Given the description of an element on the screen output the (x, y) to click on. 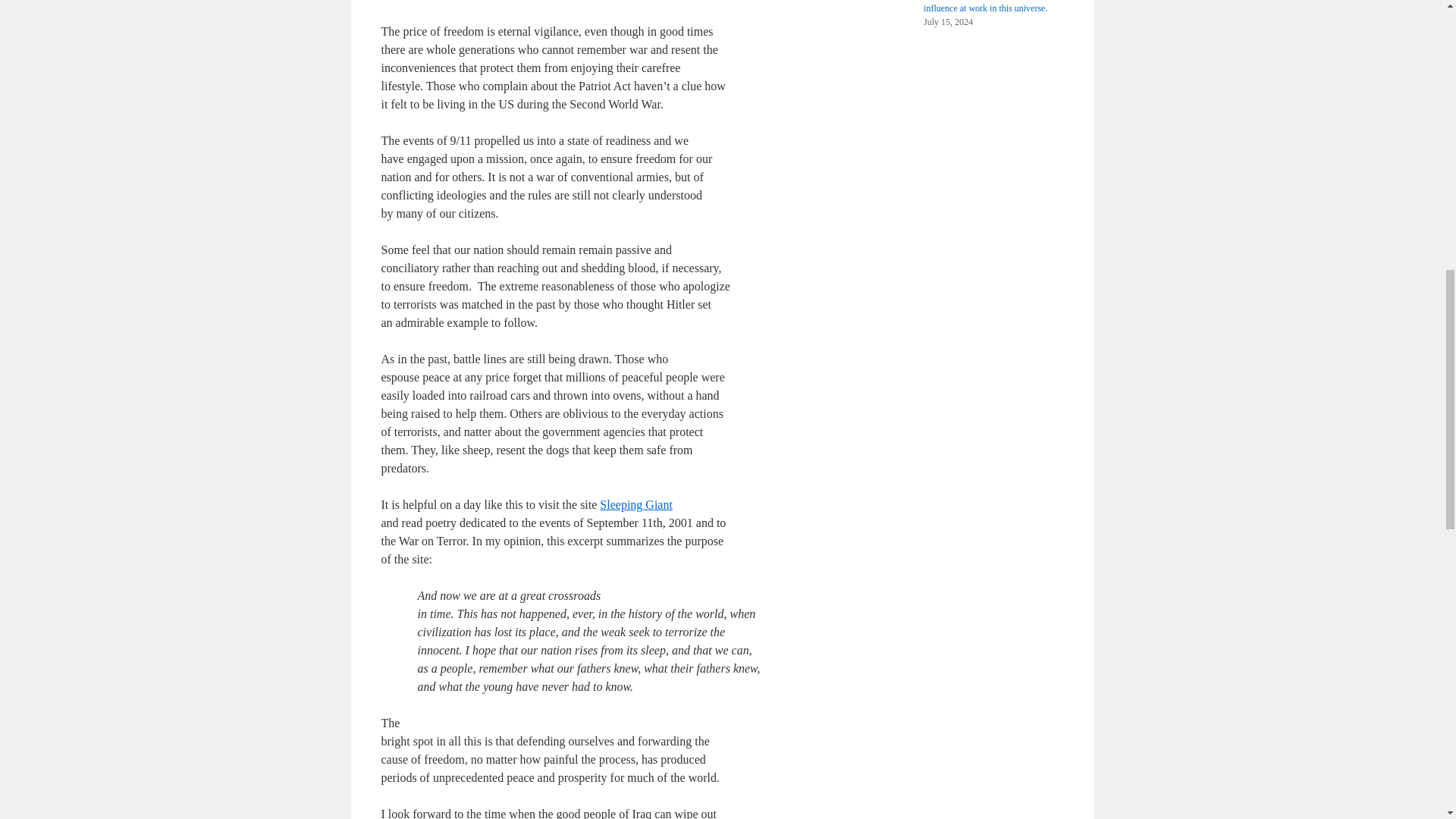
Sleeping Giant (635, 504)
